Given the description of an element on the screen output the (x, y) to click on. 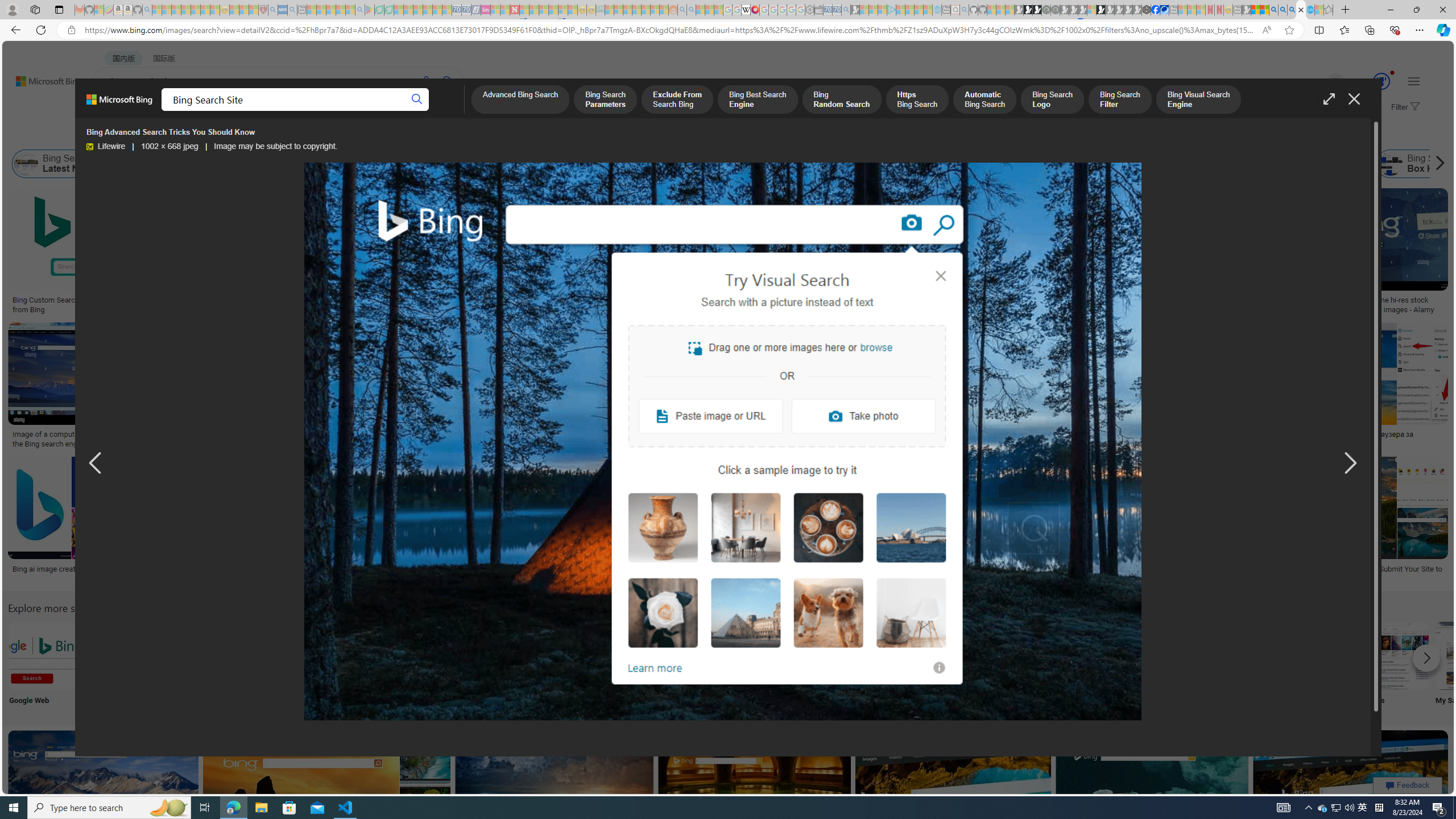
2009 Bing officially replaced Live Search on June 3 - Search (1283, 9)
Layout (253, 135)
Tricks (1319, 665)
App (1018, 665)
Bing Search Engine Homepage (1102, 163)
Bing Searches Today (285, 163)
Bing Search Tips Tips (718, 665)
